Given the description of an element on the screen output the (x, y) to click on. 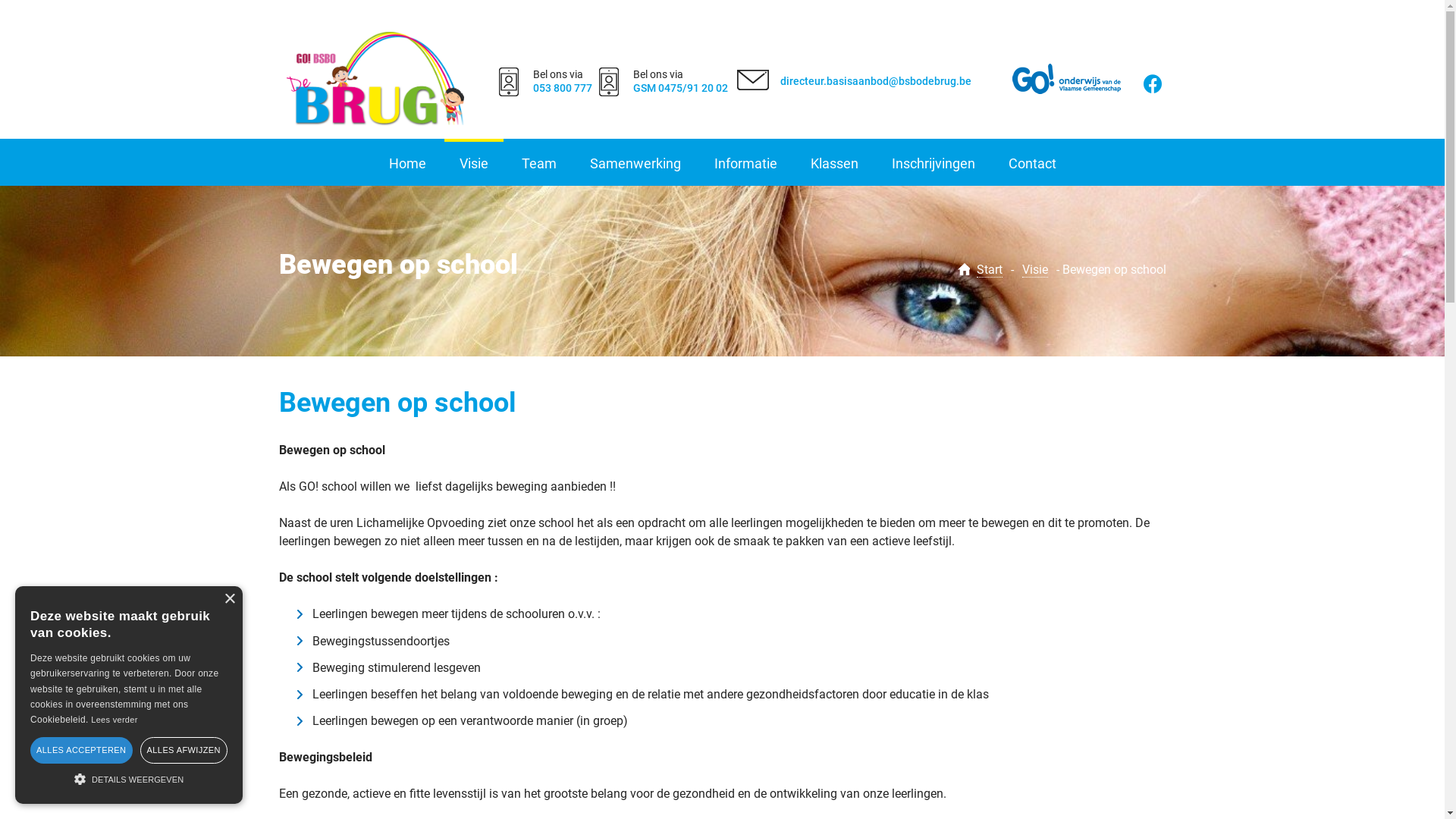
GSM 0475/91 20 02 Element type: text (680, 87)
Lees verder Element type: text (114, 719)
Contact Element type: text (1032, 163)
Visie Element type: text (1035, 269)
Visie Element type: text (473, 163)
Start Element type: text (989, 269)
Klassen Element type: text (833, 163)
directeur.basisaanbod@bsbodebrug.be Element type: text (875, 81)
Informatie Element type: text (745, 163)
Samenwerking Element type: text (635, 163)
Home Element type: text (406, 163)
053 800 777 Element type: text (561, 87)
Team Element type: text (538, 163)
Inschrijvingen Element type: text (933, 163)
